Given the description of an element on the screen output the (x, y) to click on. 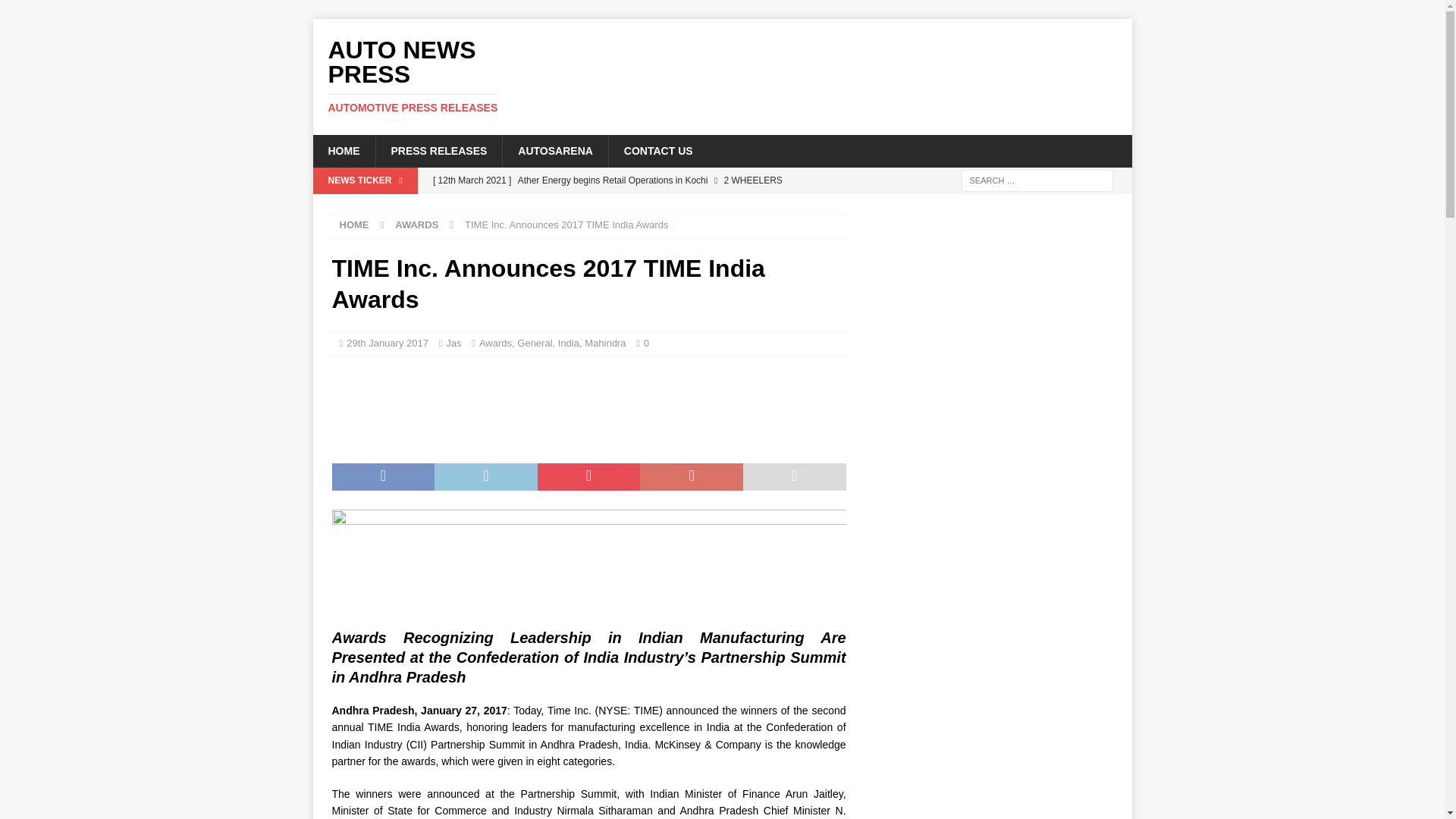
Mahindra (605, 342)
Jas (441, 75)
Search (453, 342)
Ather Energy begins Retail Operations in Kochi (56, 11)
CONTACT US (634, 180)
AWARDS (657, 151)
India (416, 224)
29th January 2017 (568, 342)
Awards (387, 342)
